Given the description of an element on the screen output the (x, y) to click on. 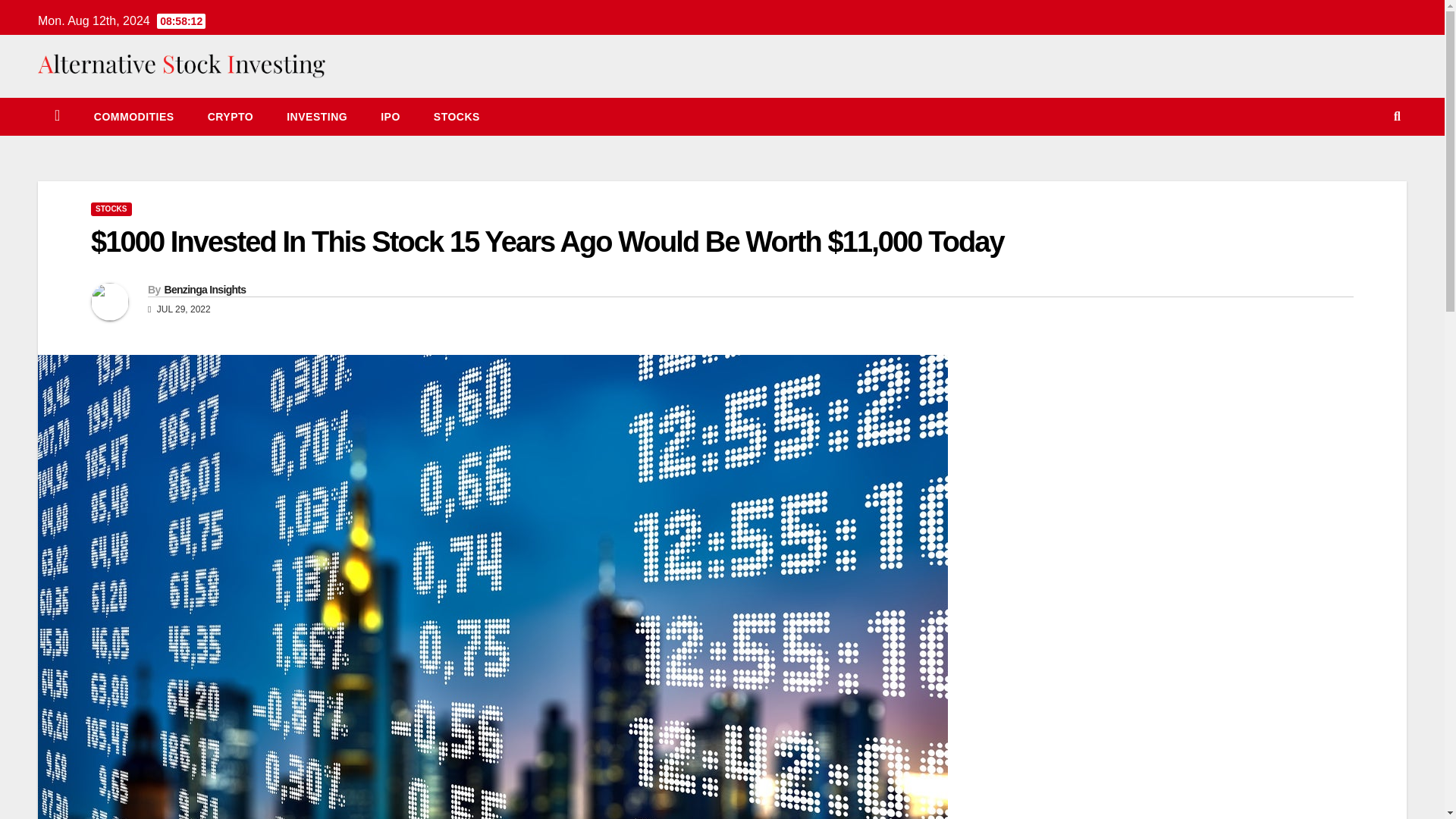
Stocks (456, 116)
STOCKS (456, 116)
COMMODITIES (133, 116)
STOCKS (111, 209)
IPO (390, 116)
IPO (390, 116)
Commodities (133, 116)
INVESTING (316, 116)
Benzinga Insights (204, 289)
Crypto (230, 116)
